Given the description of an element on the screen output the (x, y) to click on. 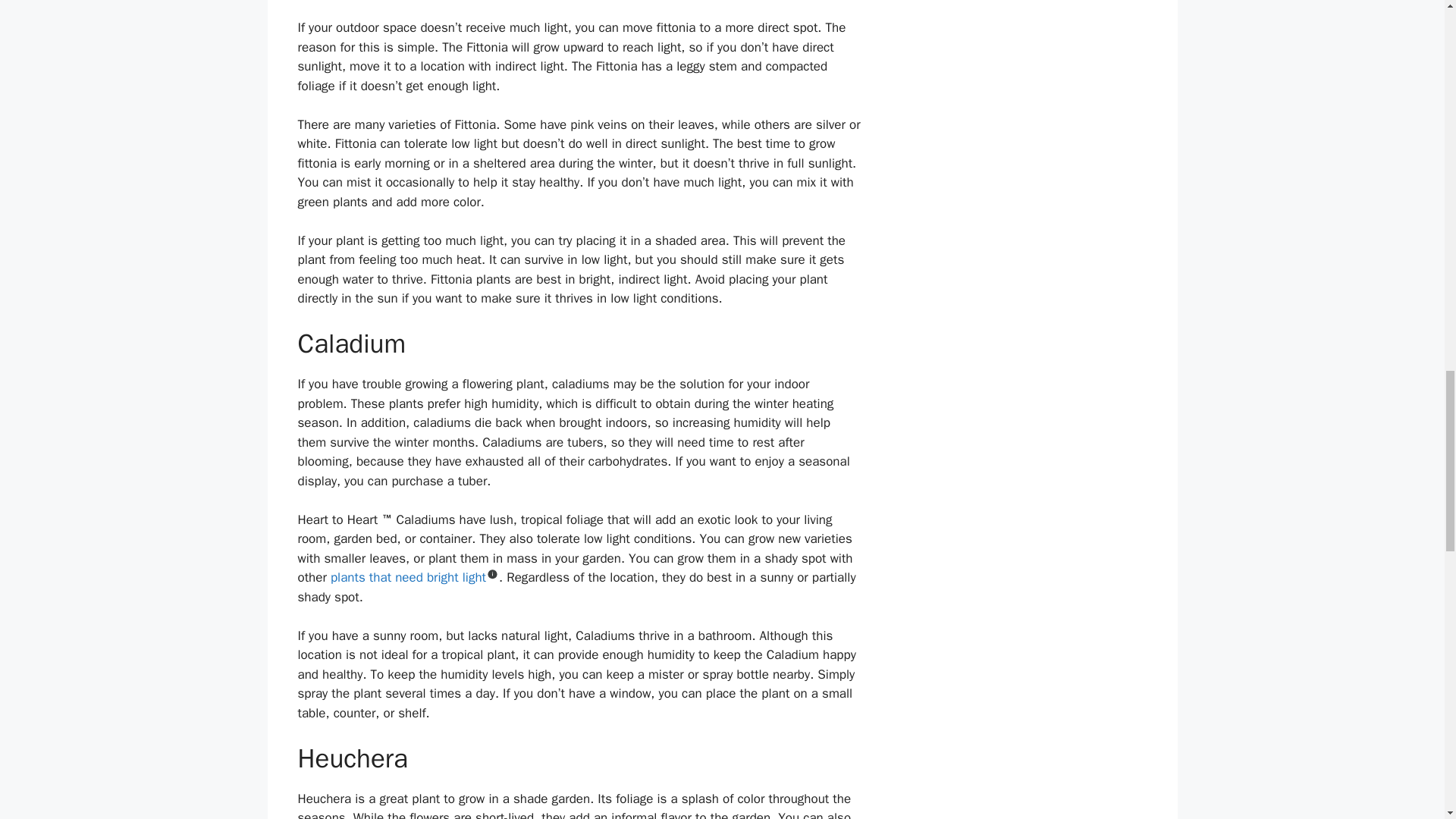
plants that need bright light (408, 577)
